Given the description of an element on the screen output the (x, y) to click on. 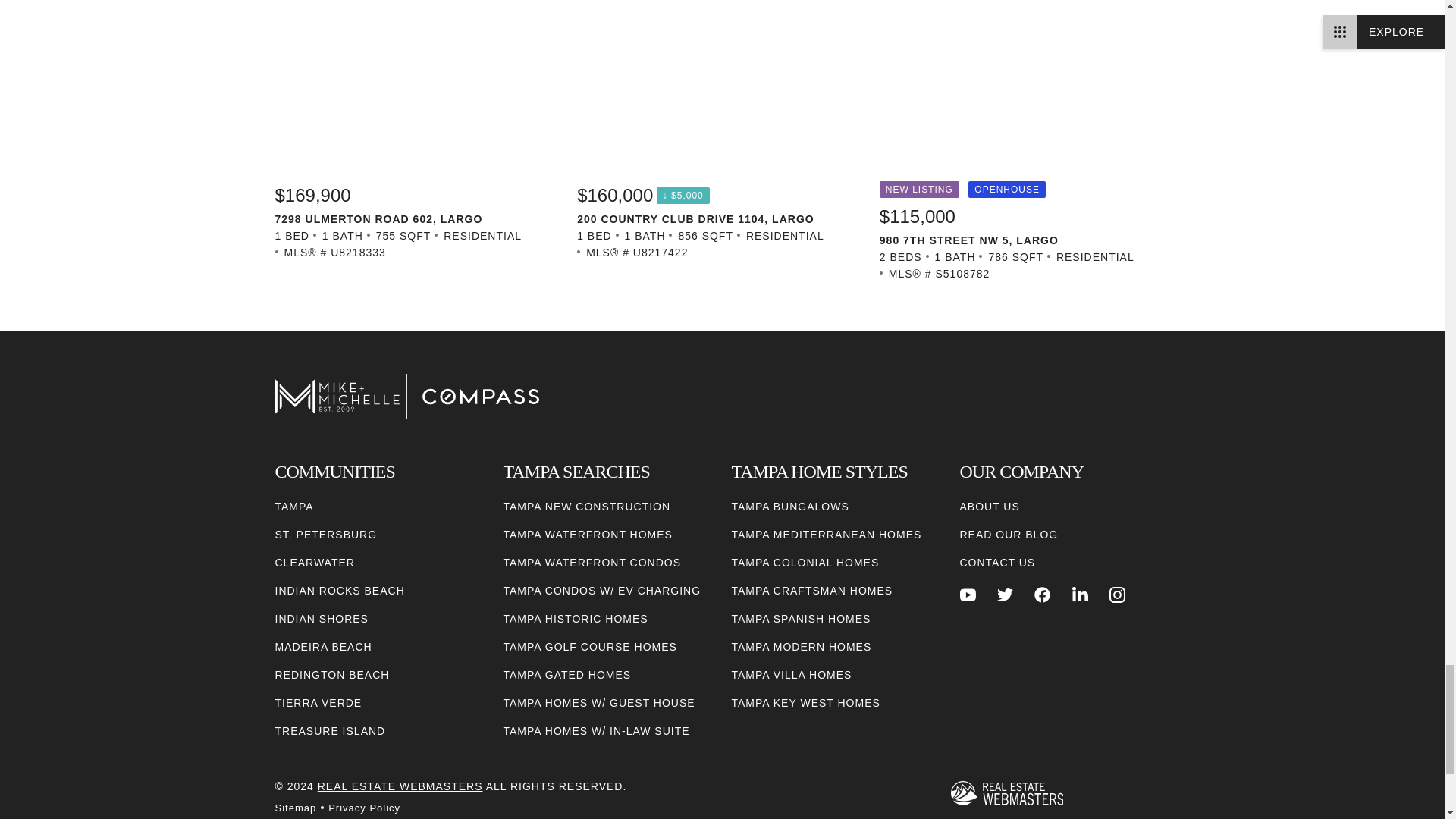
YOUTUBE (967, 594)
TWITTER (1005, 594)
FACEBOOK (1041, 594)
LINKEDIN (1079, 594)
